Given the description of an element on the screen output the (x, y) to click on. 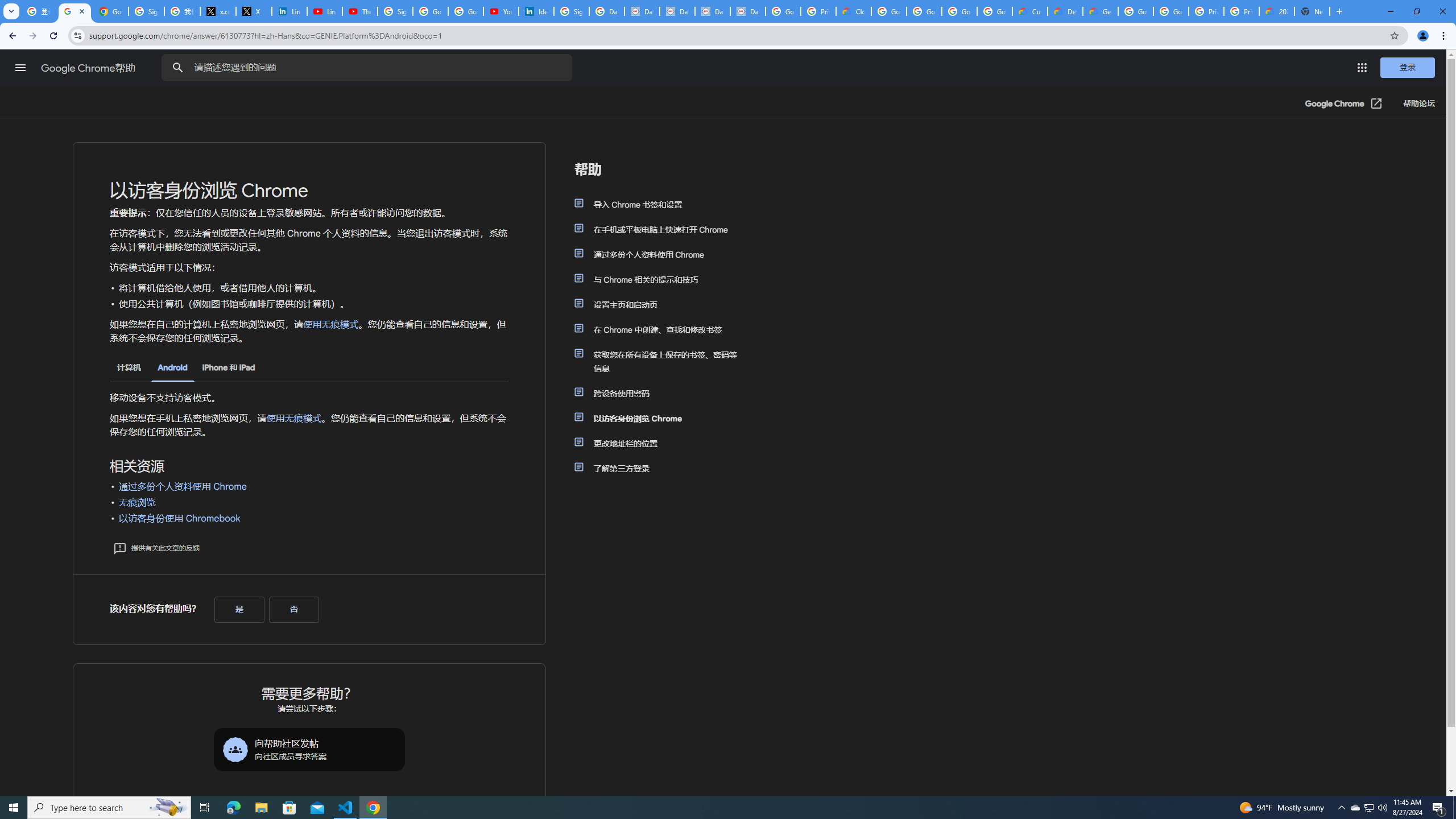
Google Workspace - Specific Terms (959, 11)
LinkedIn - YouTube (324, 11)
Data Privacy Framework (747, 11)
